Given the description of an element on the screen output the (x, y) to click on. 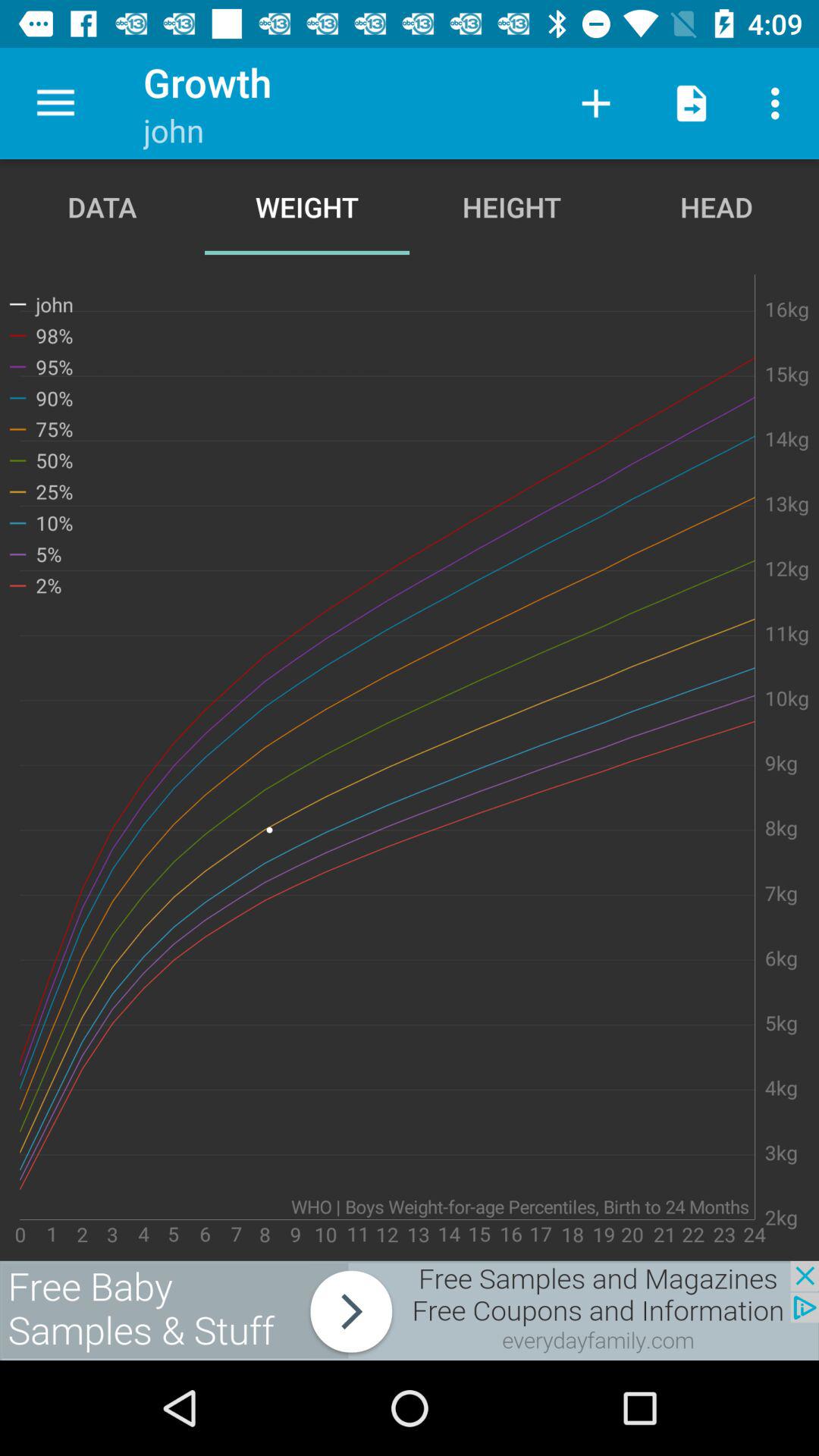
open advertisements (409, 1310)
